Given the description of an element on the screen output the (x, y) to click on. 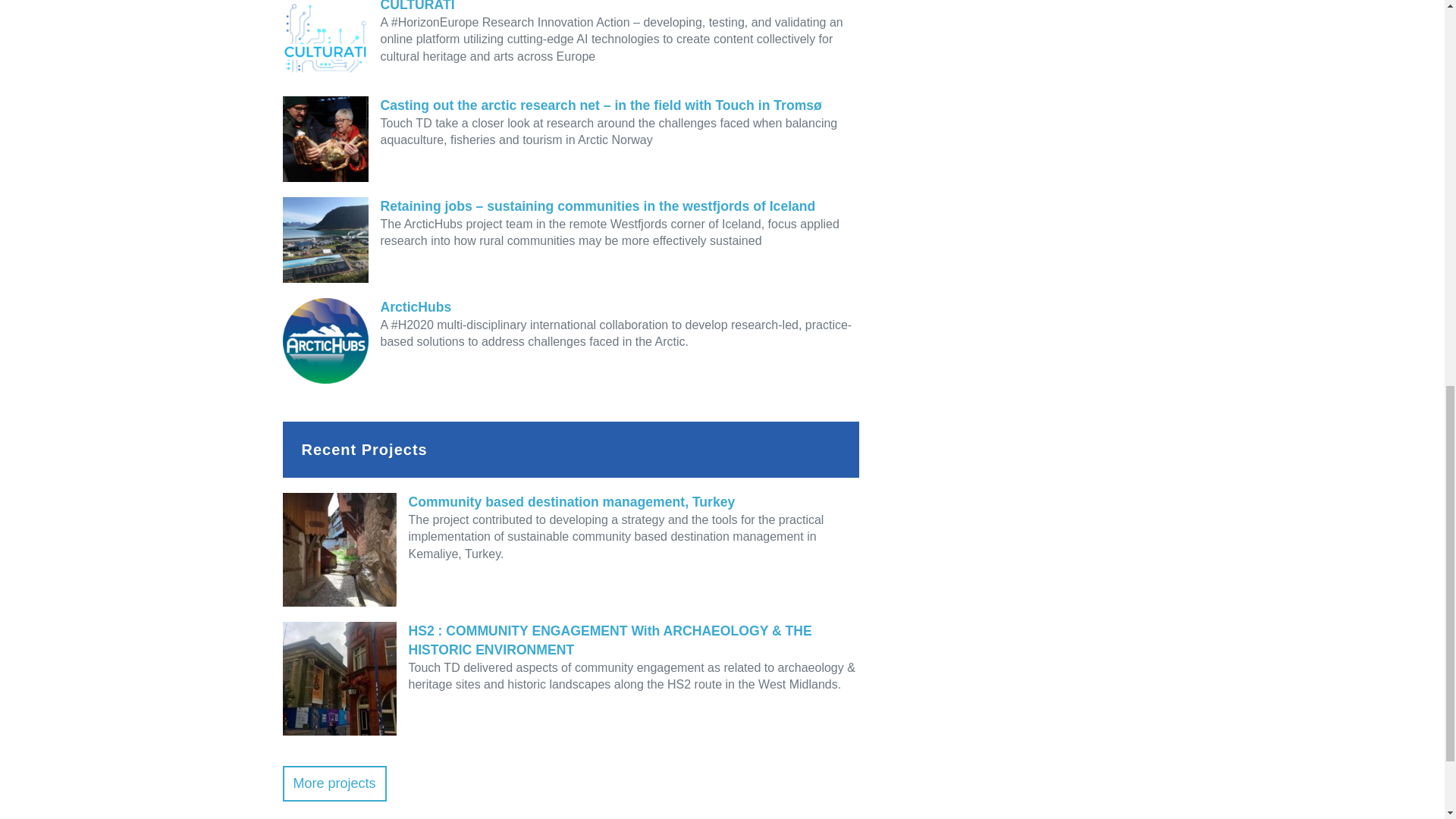
CULTURATI (570, 7)
ArcticHubs (570, 307)
More projects (333, 783)
Community based destination management, Turkey (570, 502)
